Given the description of an element on the screen output the (x, y) to click on. 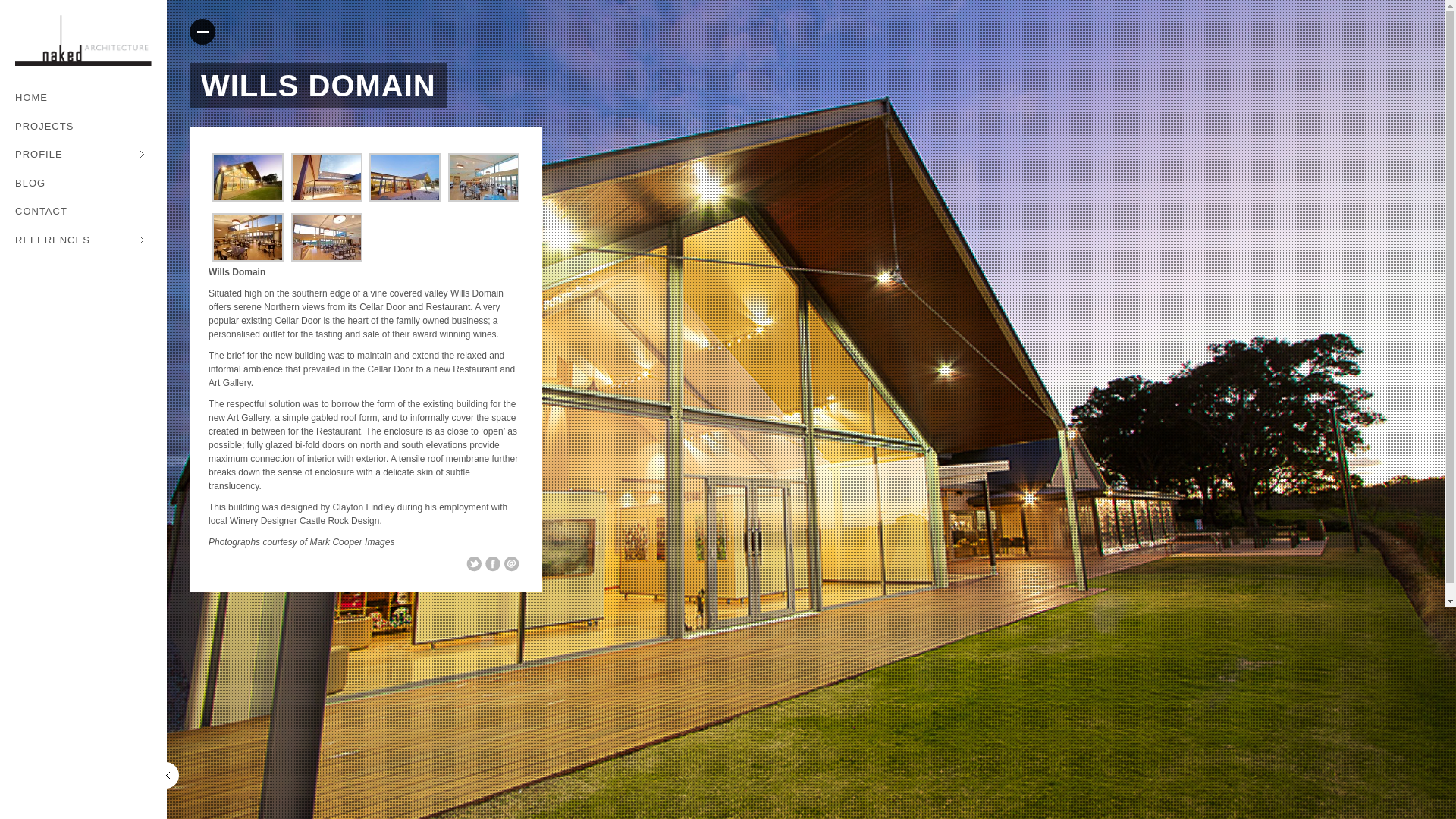
Share on Twitter Element type: text (473, 563)
PROJECTS Element type: text (83, 126)
Email This Element type: text (511, 563)
Share on Facebook Element type: text (492, 563)
HOME Element type: text (83, 98)
BLOG Element type: text (83, 183)
Read More Element type: text (202, 31)
CONTACT Element type: text (83, 211)
